Given the description of an element on the screen output the (x, y) to click on. 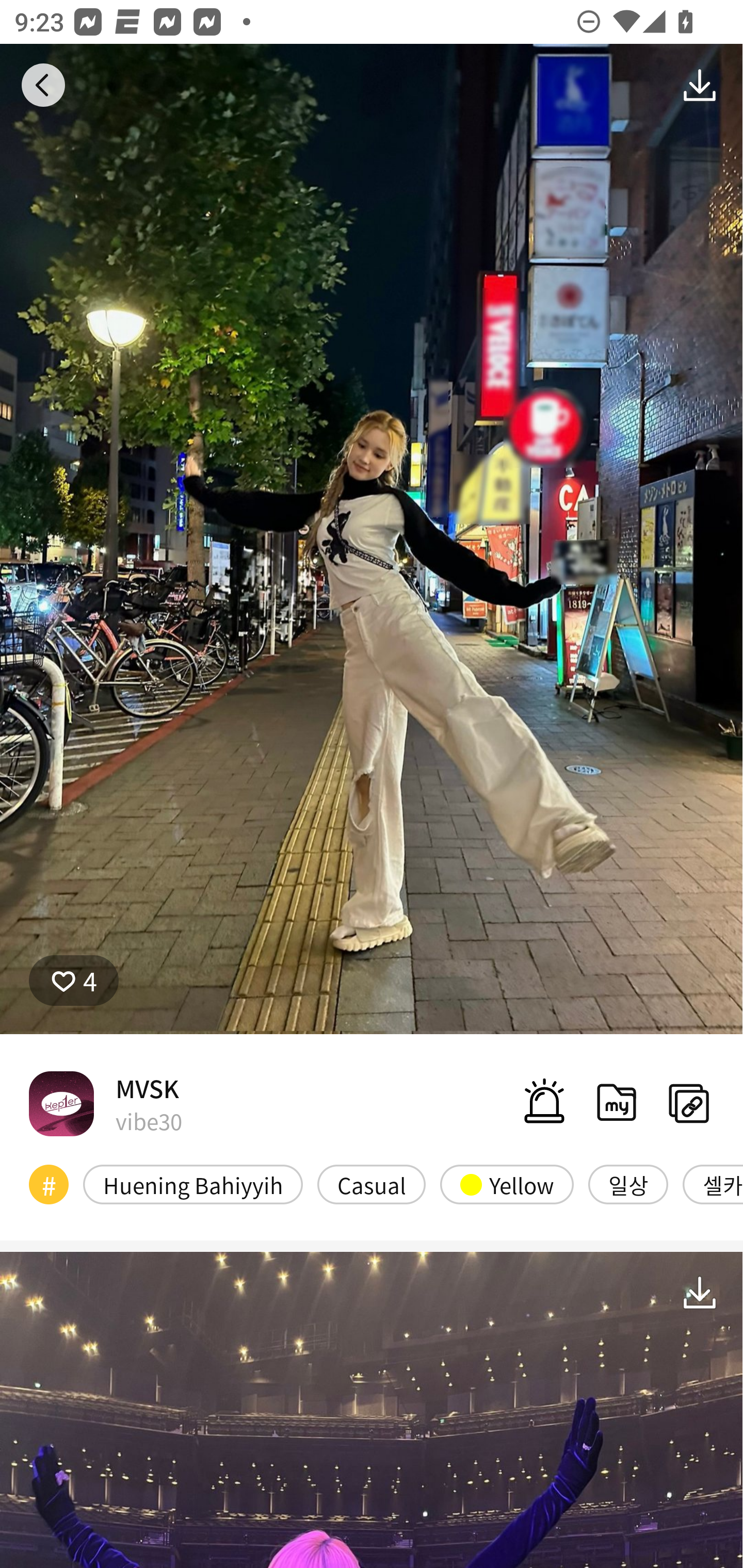
4 (73, 980)
MVSK vibe30 (105, 1102)
Huening Bahiyyih (193, 1184)
Casual (371, 1184)
Yellow (506, 1184)
일상 (627, 1184)
셀카 (712, 1184)
